Given the description of an element on the screen output the (x, y) to click on. 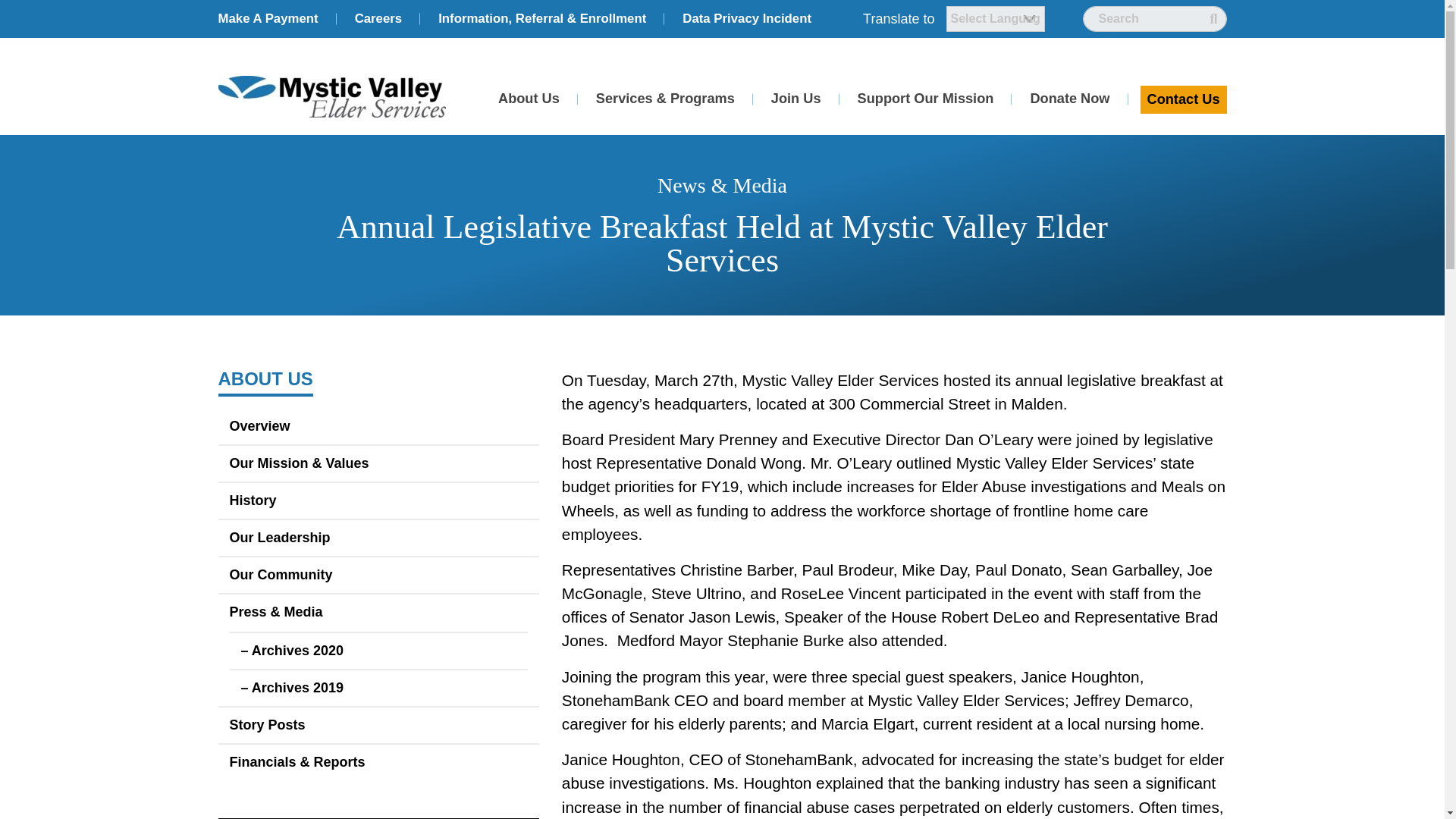
Careers (379, 18)
Mystic Valley Elder Services (331, 96)
Make A Payment (271, 18)
Data Privacy Incident (746, 18)
Support Our Mission (925, 98)
Join Us (796, 98)
About Us (529, 98)
